Given the description of an element on the screen output the (x, y) to click on. 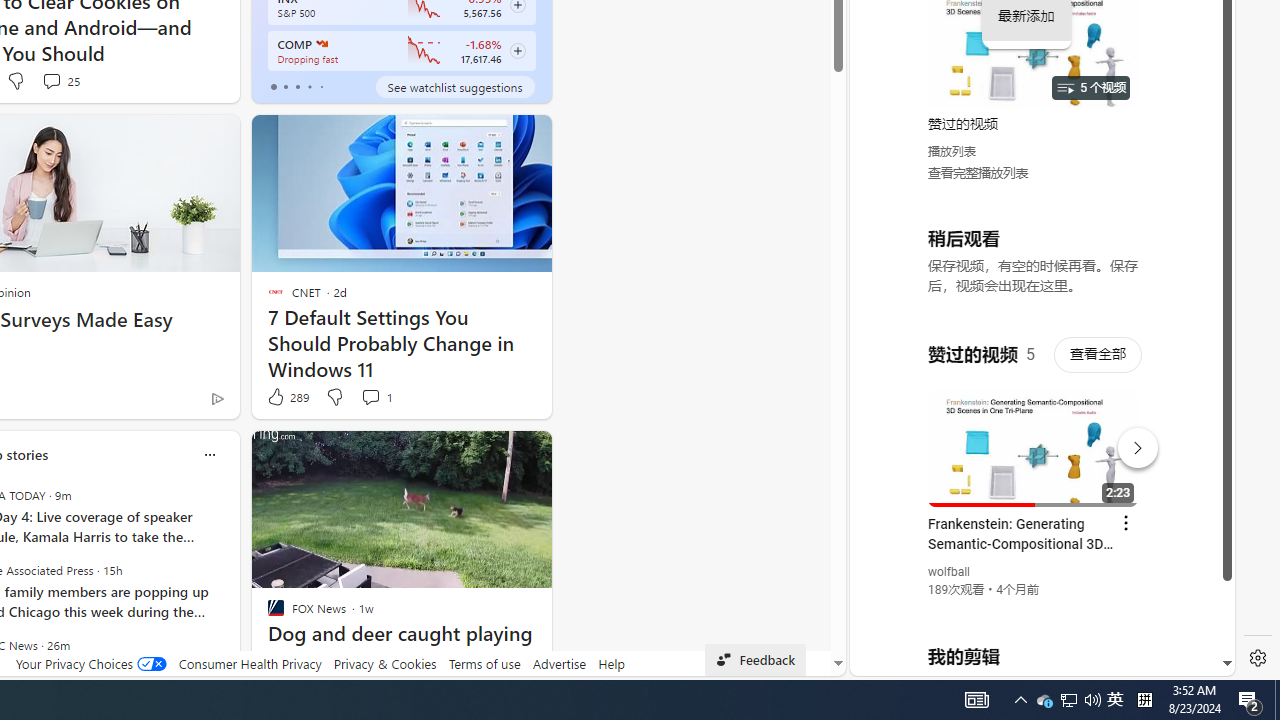
YouTube (1034, 432)
Privacy & Cookies (384, 663)
next (229, 583)
you (1034, 609)
tab-1 (285, 86)
Consumer Health Privacy (249, 663)
US[ju] (917, 660)
tab-4 (320, 86)
Class: icon-img (208, 454)
